Given the description of an element on the screen output the (x, y) to click on. 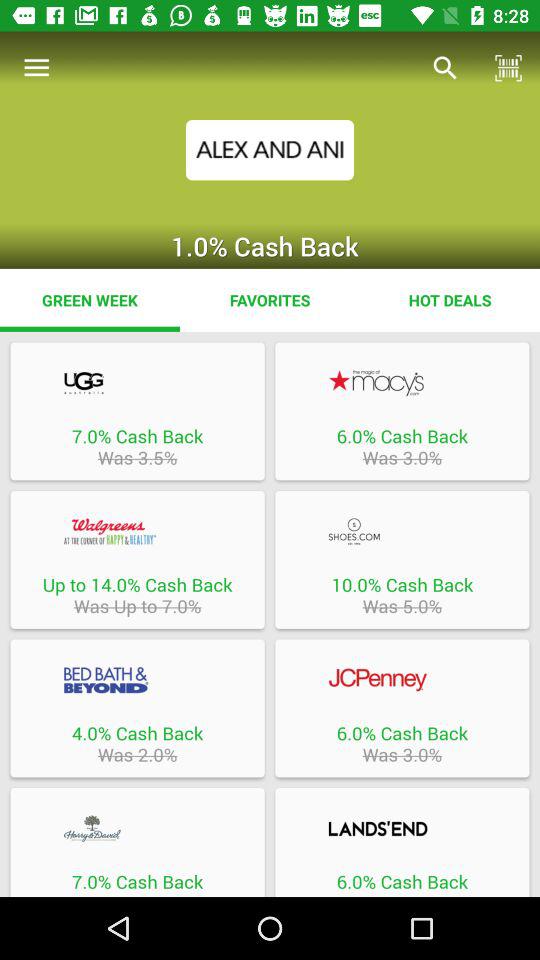
brand link (402, 828)
